Given the description of an element on the screen output the (x, y) to click on. 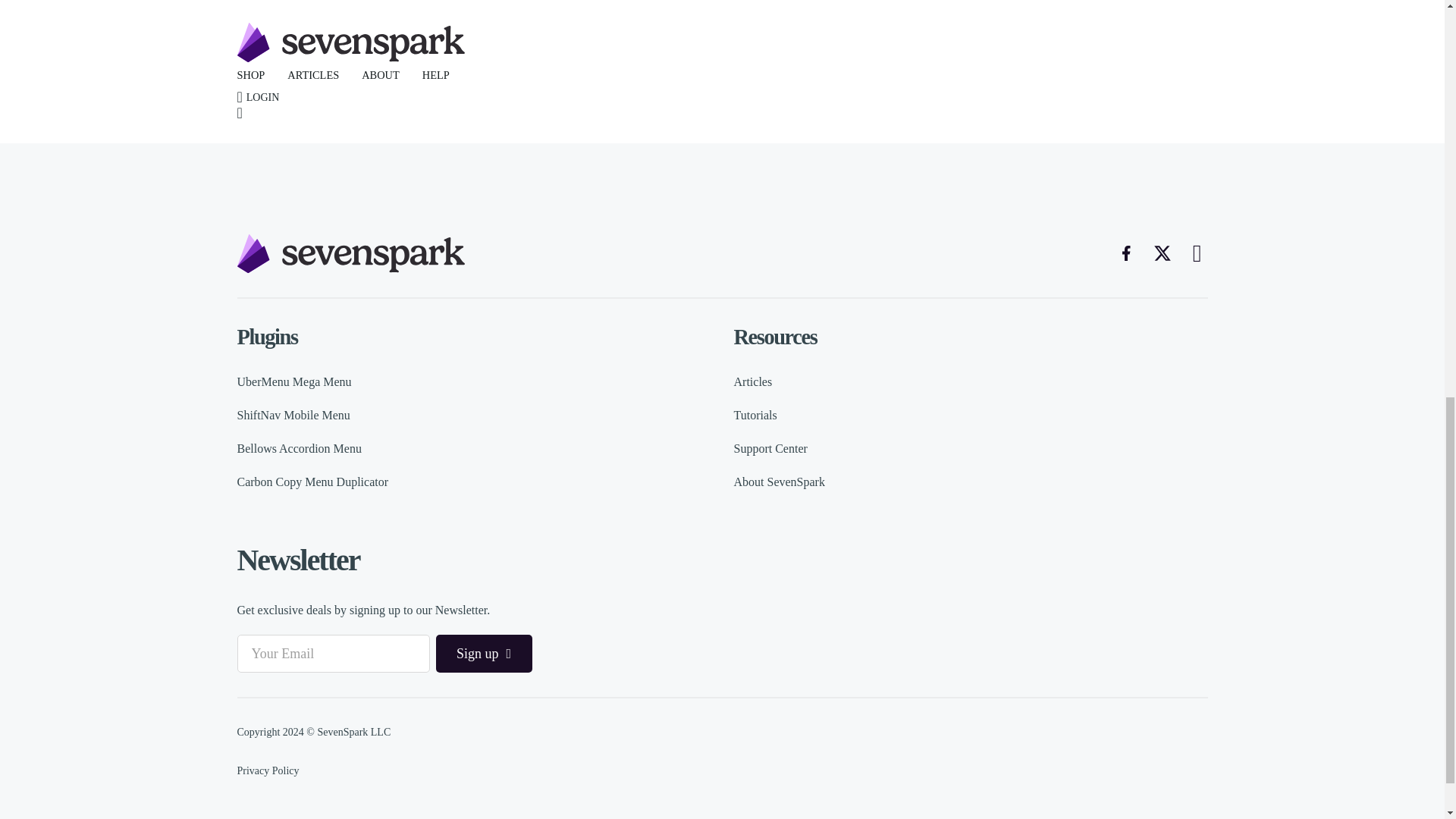
Sign up (483, 653)
Articles (753, 382)
ShiftNav Mobile Menu (292, 415)
UberMenu Mega Menu (292, 382)
Tutorials (755, 415)
Carbon Copy Menu Duplicator (311, 482)
Support Center (770, 448)
About SevenSpark (779, 482)
Bellows Accordion Menu (298, 448)
Privacy Policy (266, 770)
